Given the description of an element on the screen output the (x, y) to click on. 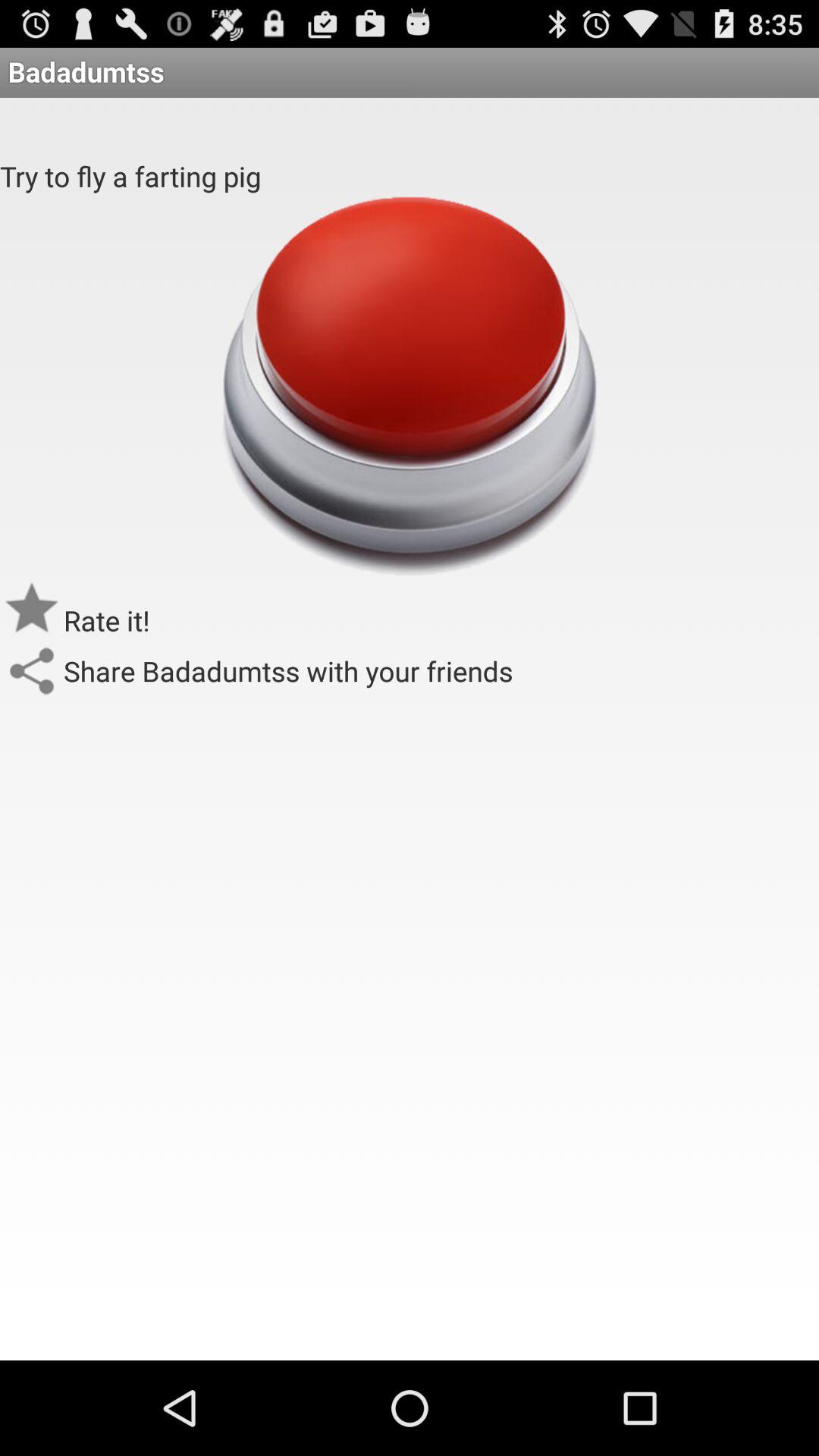
launch app at the top left corner (130, 176)
